Given the description of an element on the screen output the (x, y) to click on. 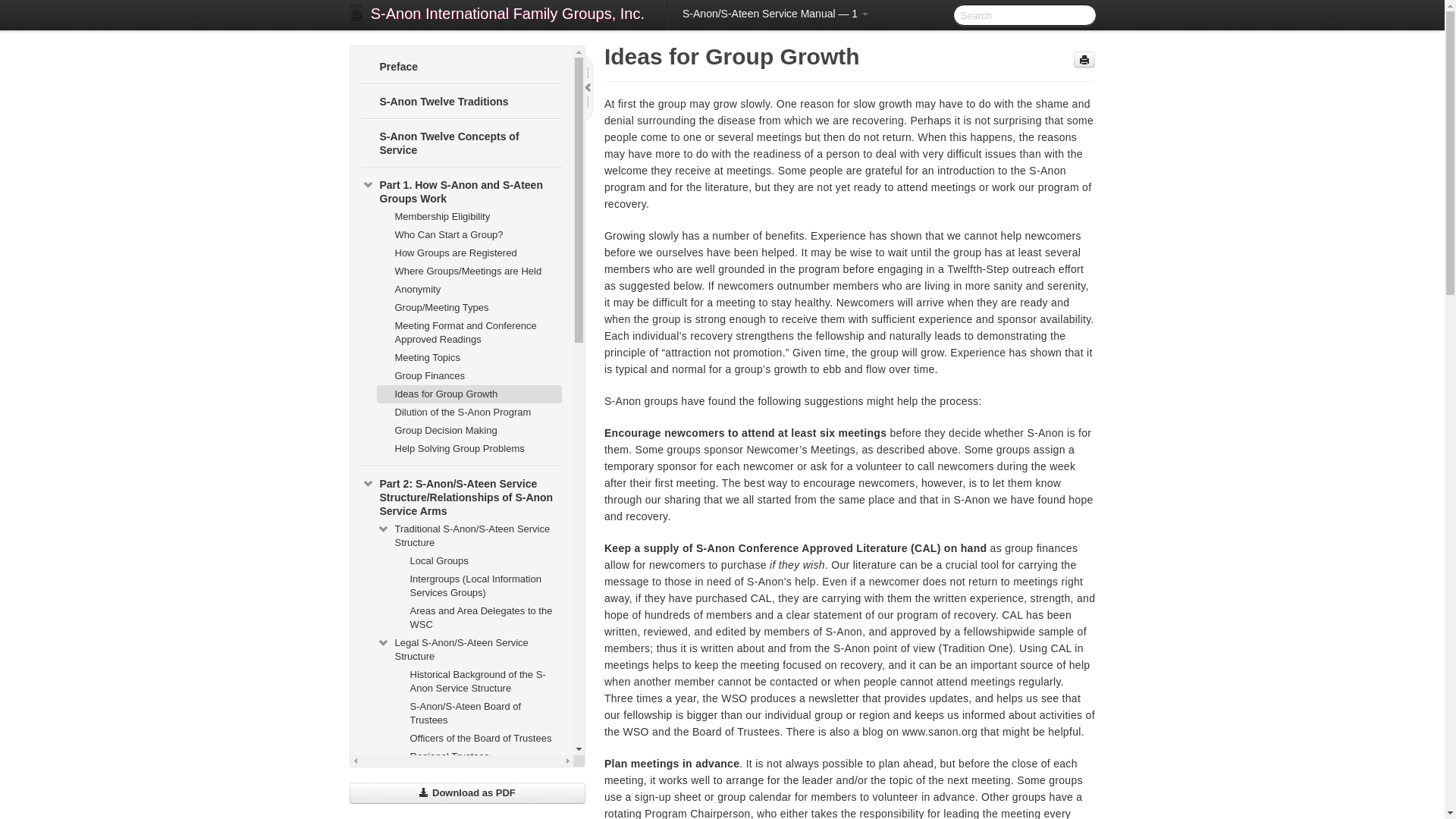
Print page (1084, 59)
S-Anon International Family Groups, Inc. (507, 15)
